Given the description of an element on the screen output the (x, y) to click on. 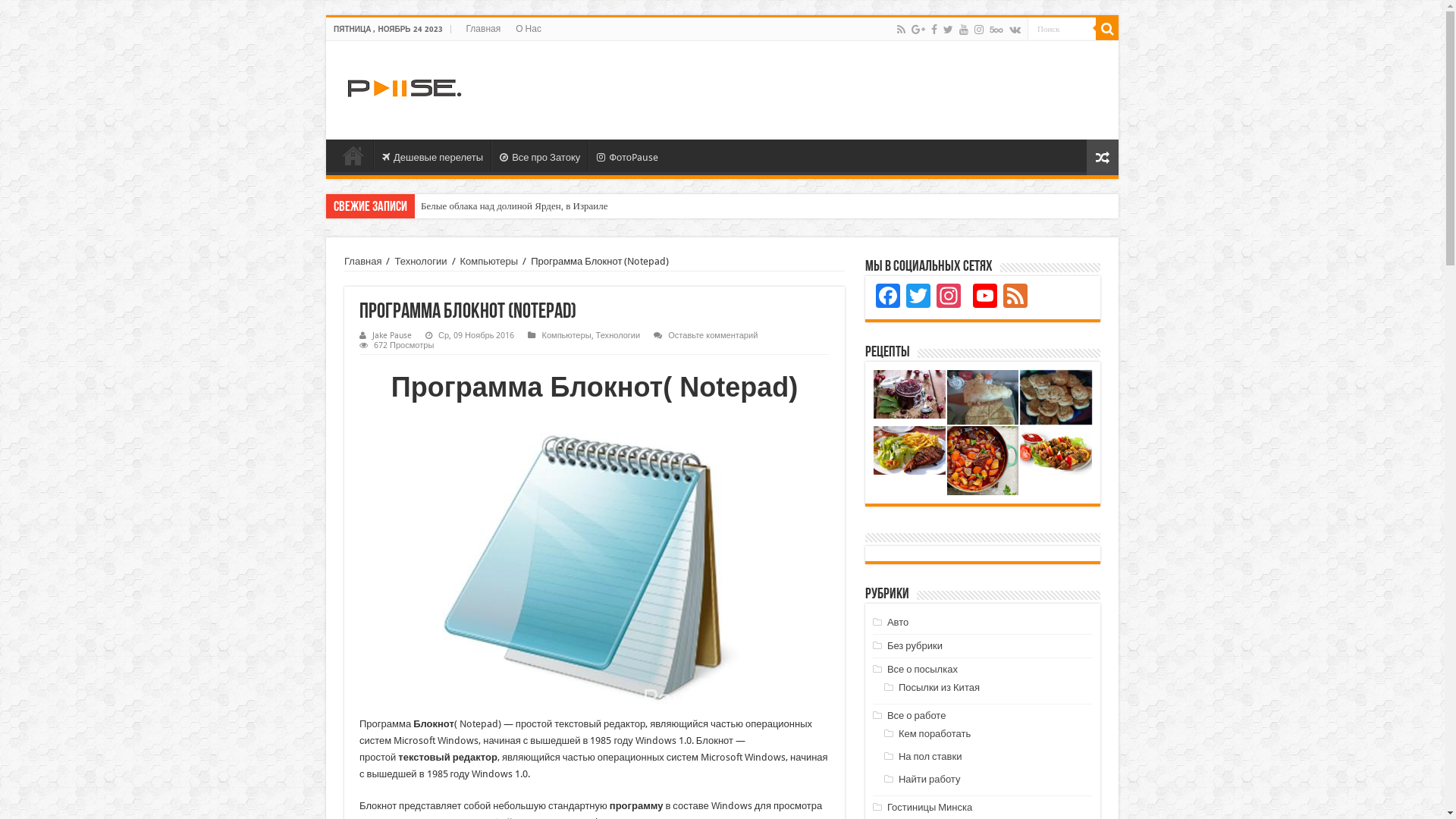
Facebook Element type: hover (933, 29)
Twitter Element type: text (918, 297)
Facebook Element type: text (887, 297)
Rss Element type: hover (900, 29)
vk.com Element type: hover (1014, 29)
Google+ Element type: hover (918, 29)
Twitter Element type: hover (947, 29)
Pause.By Element type: hover (403, 85)
instagram Element type: hover (978, 29)
Jake Pause Element type: text (391, 335)
Advertisement Element type: hover (831, 90)
Youtube Element type: hover (963, 29)
YouTube Channel Element type: text (984, 297)
Feed Element type: text (1015, 297)
500px Element type: hover (996, 29)
Instagram Element type: text (948, 297)
